Given the description of an element on the screen output the (x, y) to click on. 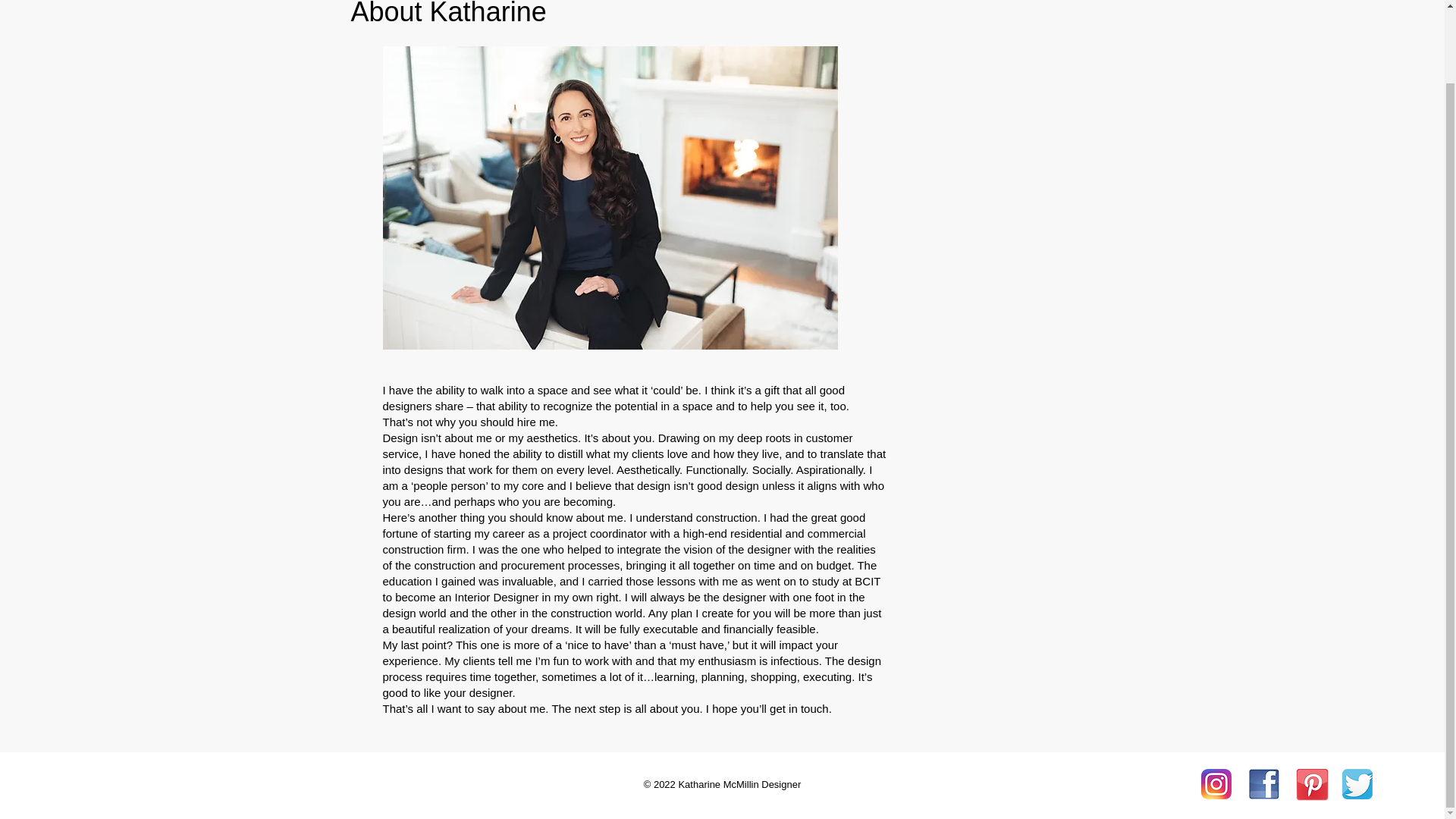
Facebook (1262, 784)
Pinterest (1312, 784)
Twitter (1357, 784)
Instagram (1216, 784)
